Given the description of an element on the screen output the (x, y) to click on. 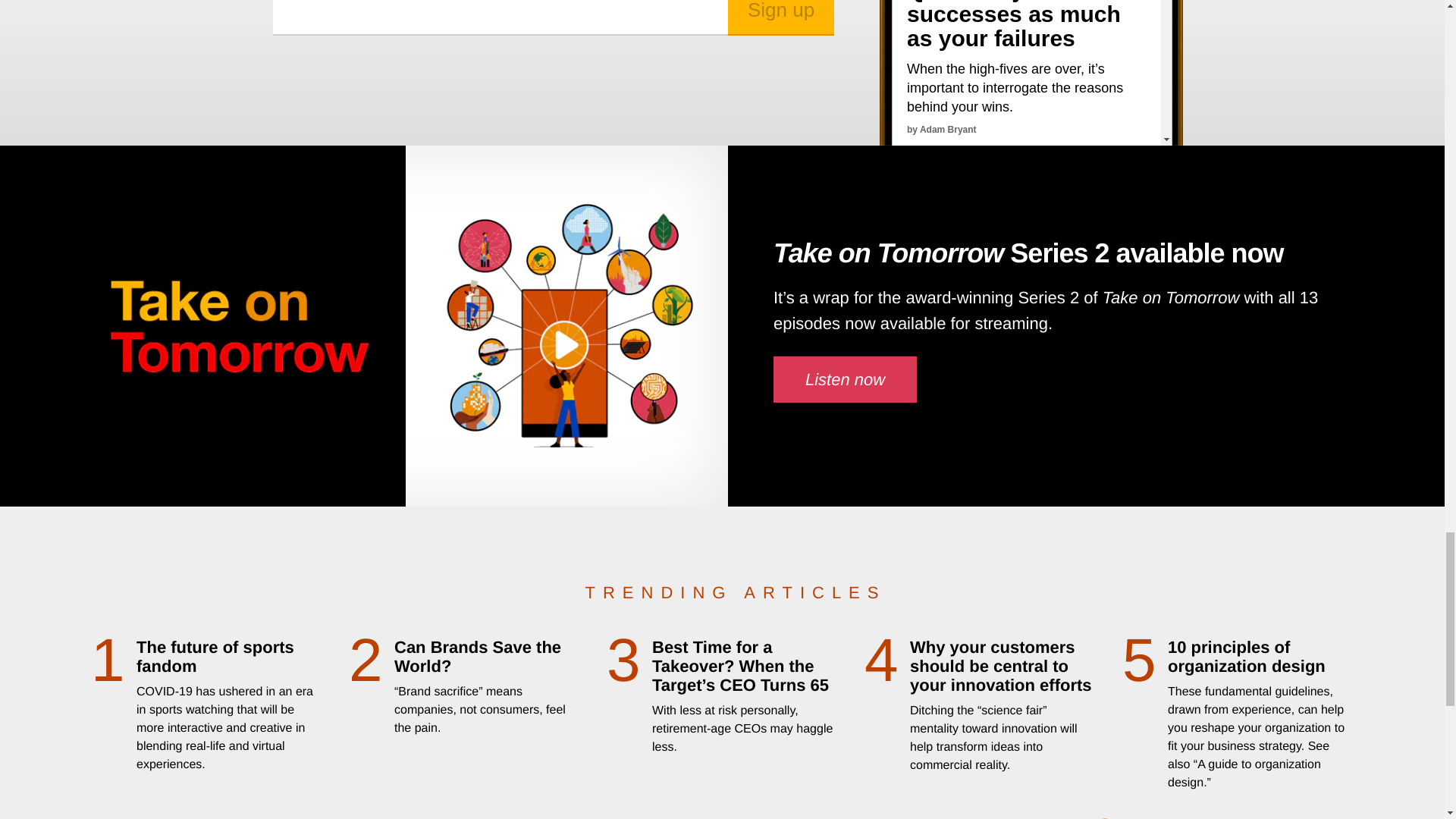
Newsletters (1031, 72)
Sign up (781, 18)
